Given the description of an element on the screen output the (x, y) to click on. 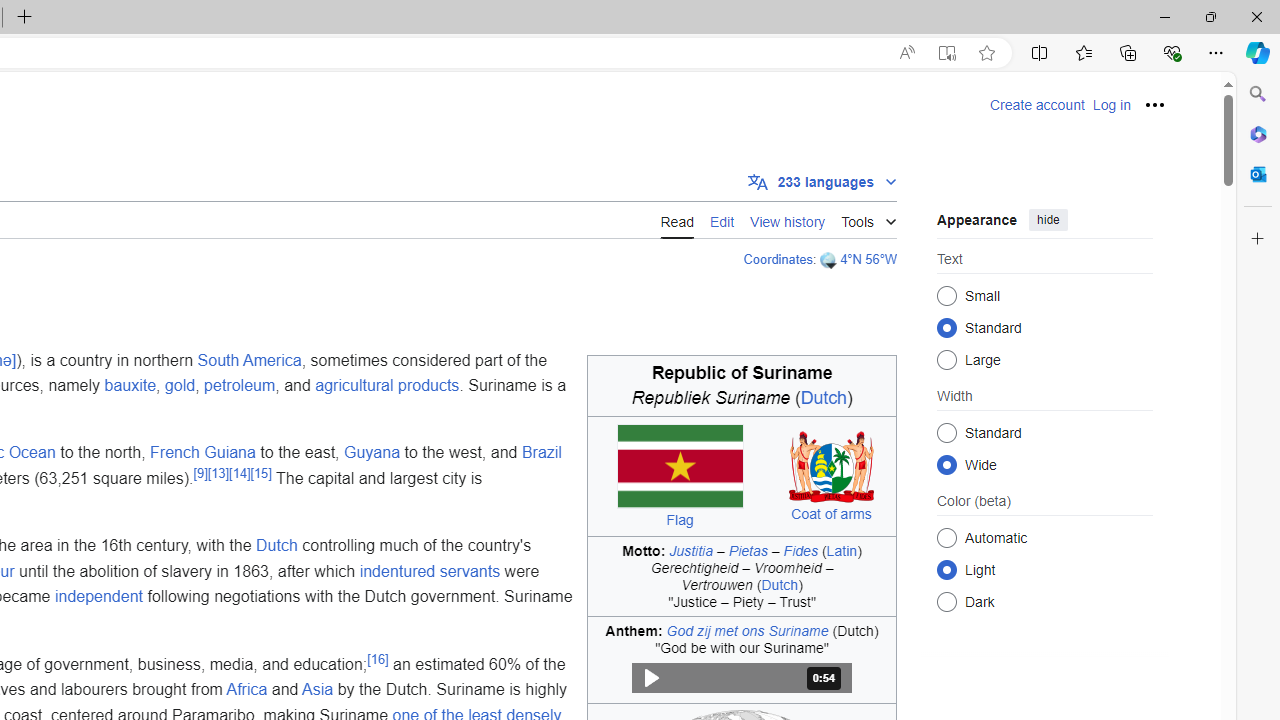
petroleum (239, 386)
Coat of arms of Suriname (831, 466)
Coordinates (777, 259)
Coat of arms (831, 513)
Brazil (540, 453)
God zij met ons Suriname (747, 630)
Class: mw-list-item mw-list-item-js (1044, 569)
Fides (800, 550)
View history (787, 219)
Guyana (371, 453)
Standard (946, 431)
